Given the description of an element on the screen output the (x, y) to click on. 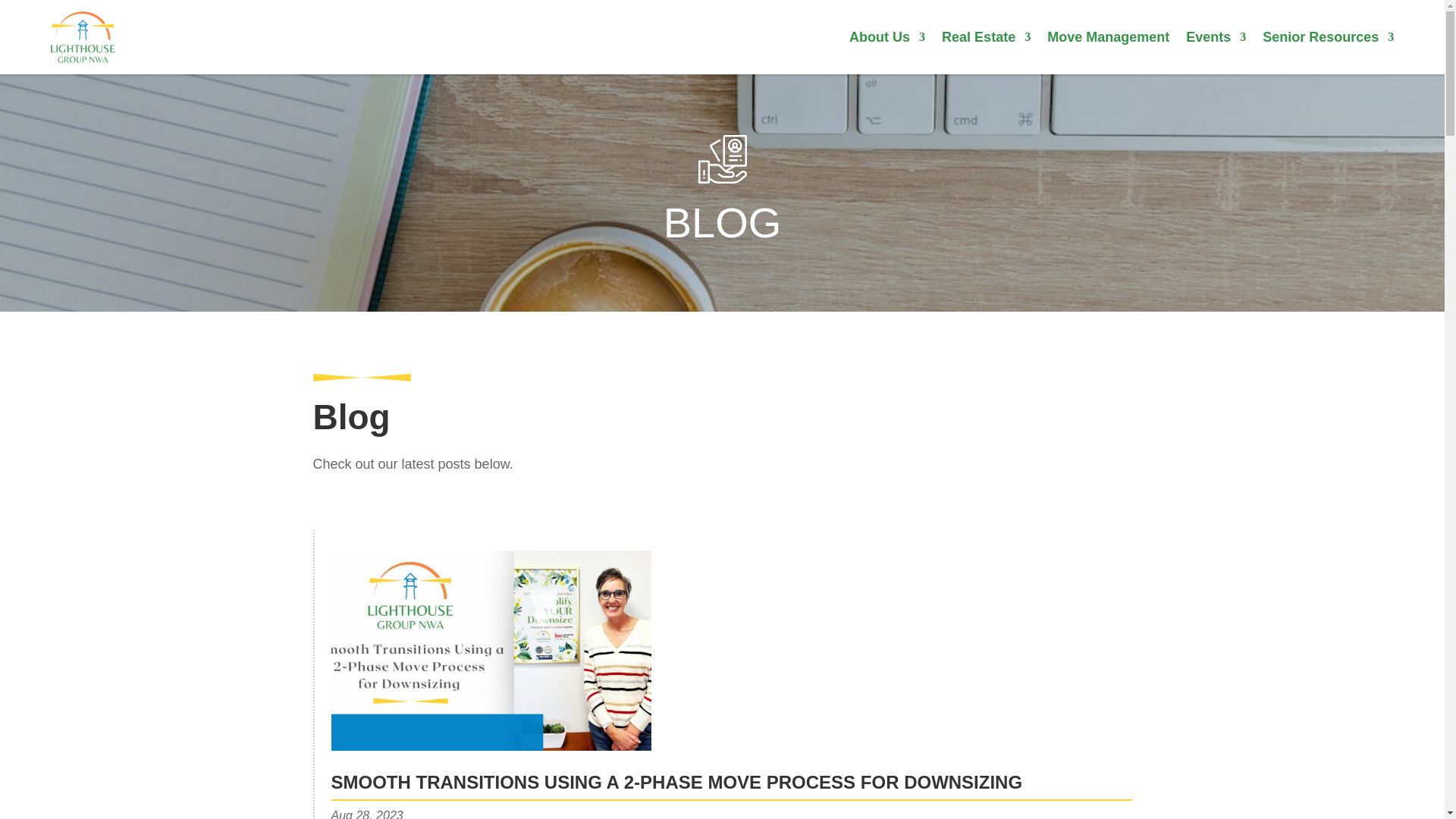
LHG-Logo (82, 37)
Move Management (1107, 39)
LightDivider-300 (361, 376)
Real Estate (986, 39)
About Us (886, 39)
Events (1216, 39)
Senior Resources (1327, 39)
